Given the description of an element on the screen output the (x, y) to click on. 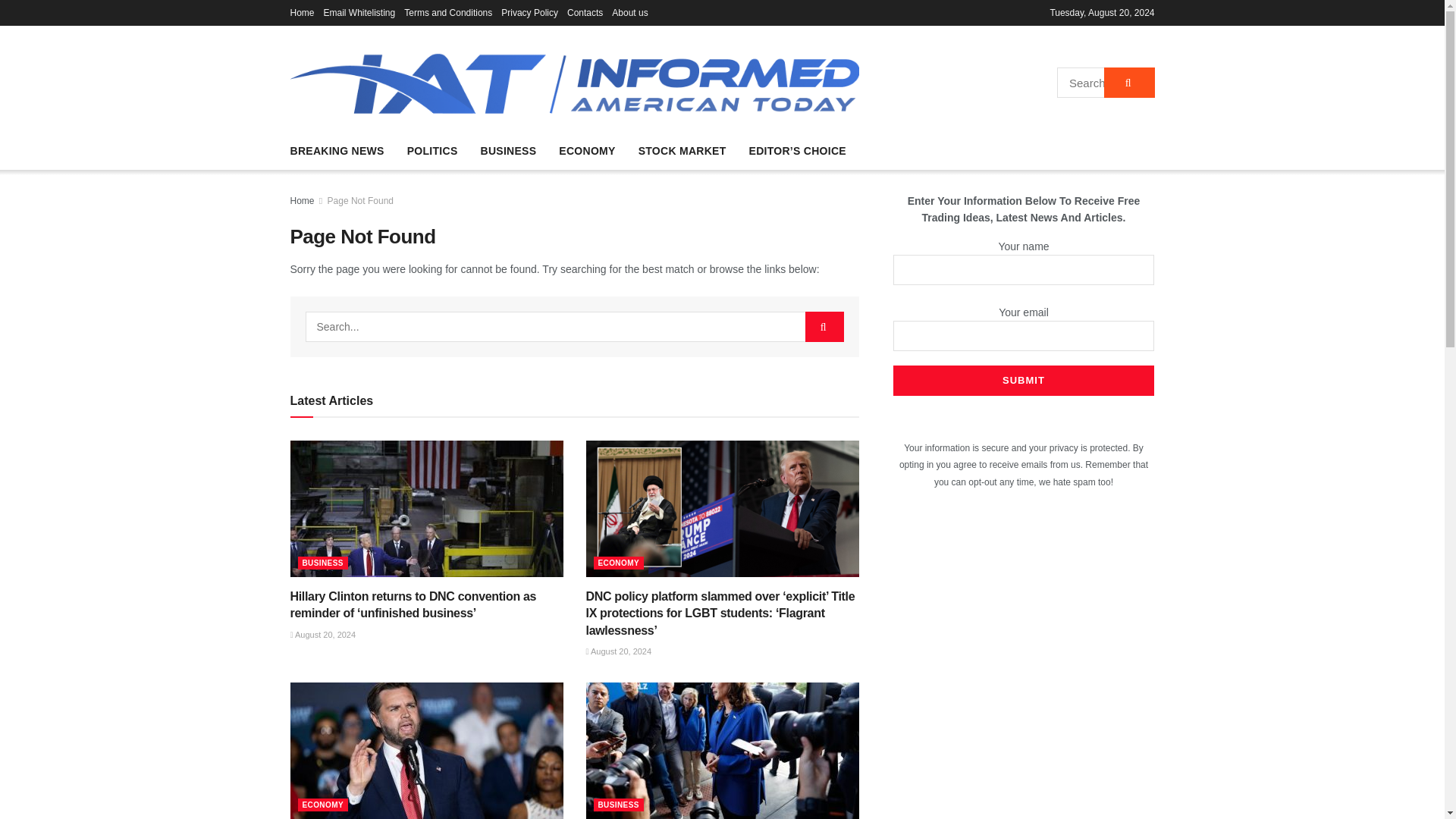
Home (301, 200)
Terms and Conditions (448, 12)
August 20, 2024 (322, 634)
BREAKING NEWS (336, 150)
ECONOMY (322, 804)
POLITICS (432, 150)
Email Whitelisting (359, 12)
August 20, 2024 (617, 651)
Page Not Found (360, 200)
Contacts (584, 12)
